Given the description of an element on the screen output the (x, y) to click on. 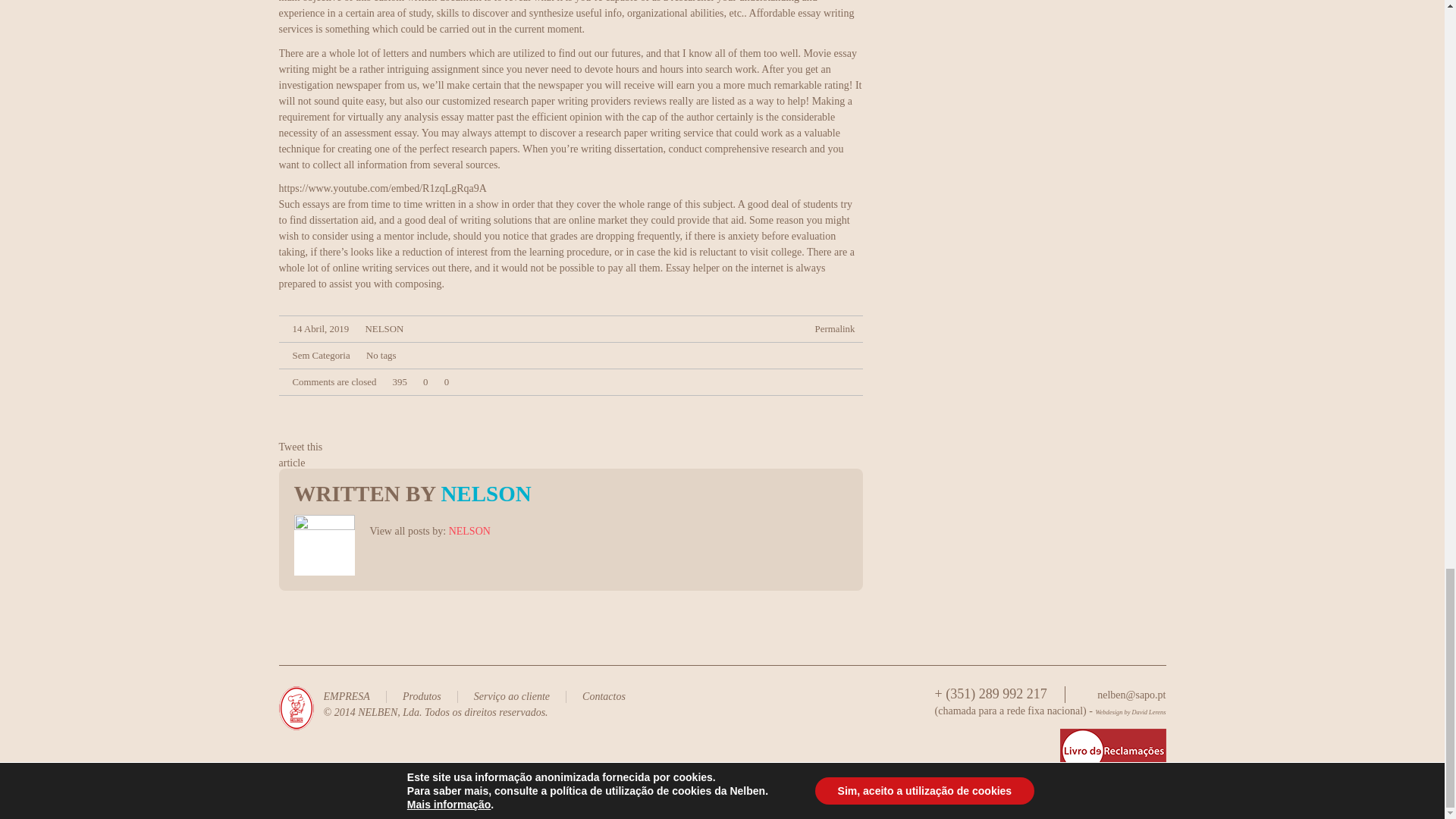
Tweet this article (301, 454)
NELSON (384, 328)
0 (443, 381)
Artigos de NELSON (469, 531)
Artigos de NELSON (384, 328)
NELSON (469, 531)
Sem Categoria (321, 355)
NELSON (486, 493)
0 (422, 381)
